Given the description of an element on the screen output the (x, y) to click on. 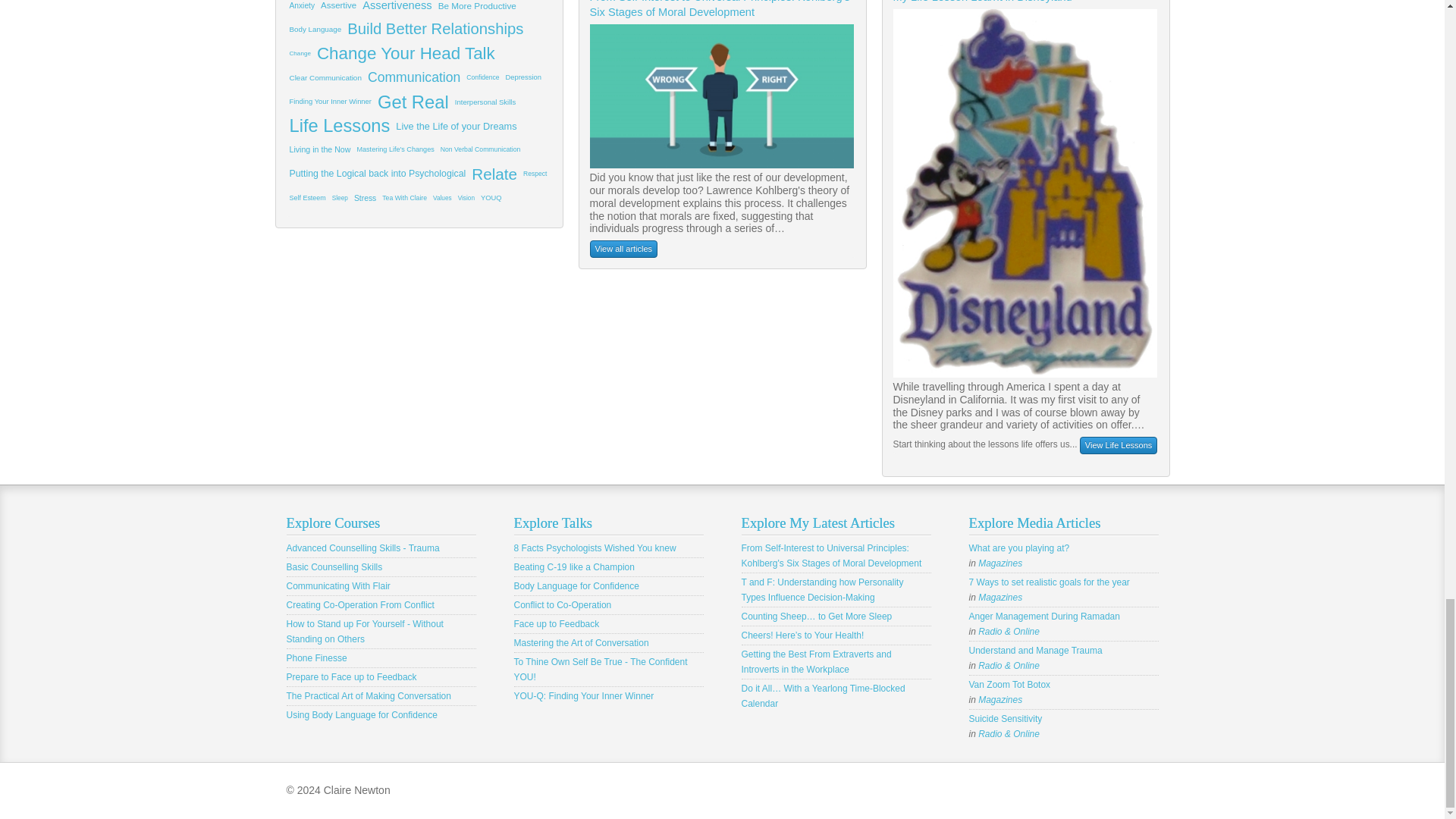
26 items tagged with Be More Productive (477, 9)
9 items tagged with Change (300, 53)
82 items tagged with Life Lessons (339, 126)
18 items tagged with Clear Communication (325, 78)
66 items tagged with Build Better Relationships (434, 29)
15 items tagged with Depression (523, 78)
15 items tagged with Finding Your Inner Winner (330, 102)
40 items tagged with Assertiveness (396, 9)
11 items tagged with Confidence (482, 78)
83 items tagged with Get Real (412, 102)
